Given the description of an element on the screen output the (x, y) to click on. 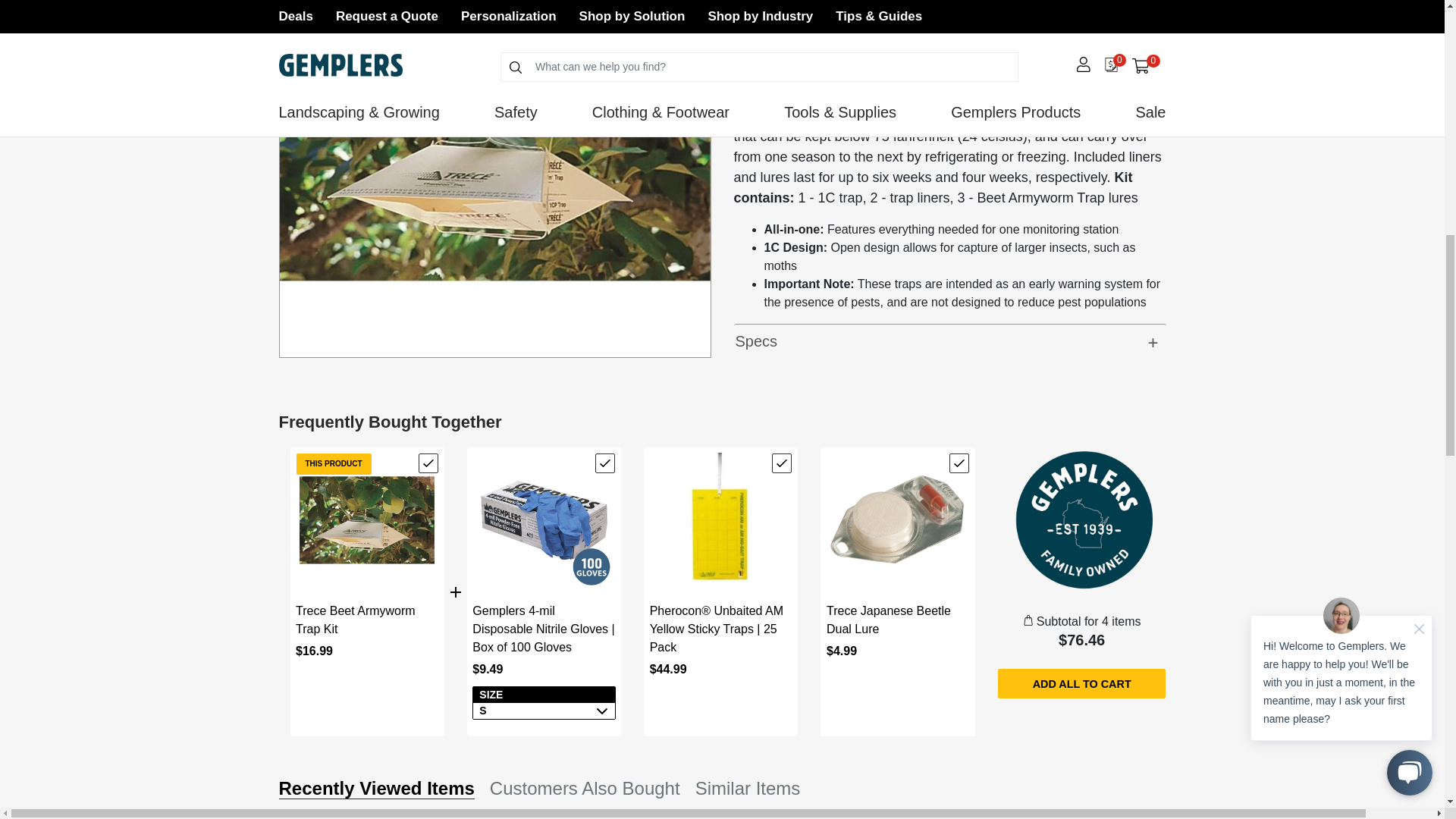
Trece Japanese Beetle Dual Lure (897, 520)
Trece Beet Armyworm Trap Kit (366, 520)
